Given the description of an element on the screen output the (x, y) to click on. 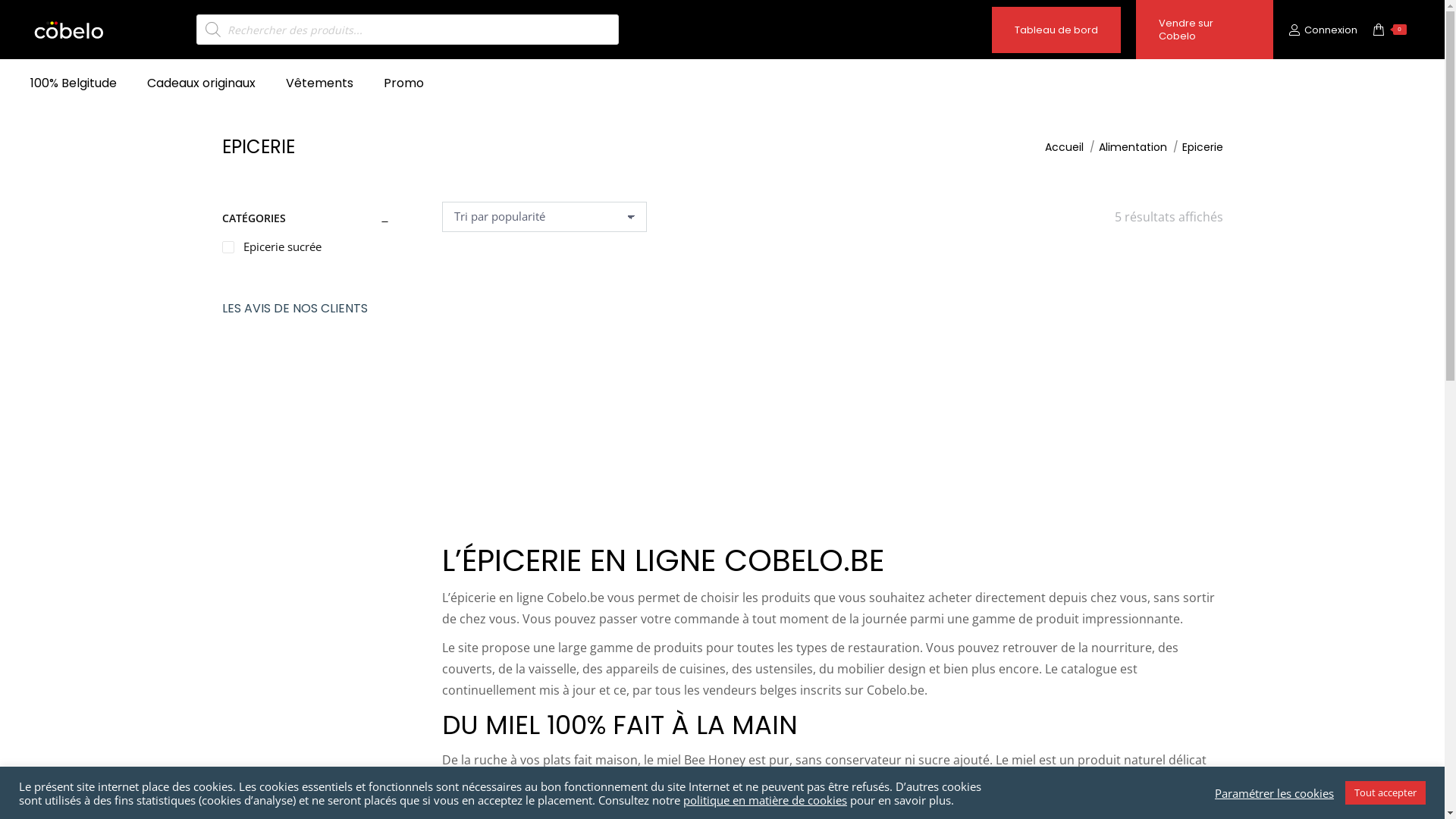
Connexion Element type: text (1322, 28)
Vendre sur Cobelo Element type: text (1204, 29)
Promo Element type: text (403, 83)
Cadeaux originaux Element type: text (201, 83)
Accueil Element type: text (1063, 146)
 0 Element type: text (1389, 28)
Alimentation Element type: text (1132, 146)
Tout accepter Element type: text (1385, 792)
Tableau de bord Element type: text (1055, 29)
100% Belgitude Element type: text (73, 83)
